Given the description of an element on the screen output the (x, y) to click on. 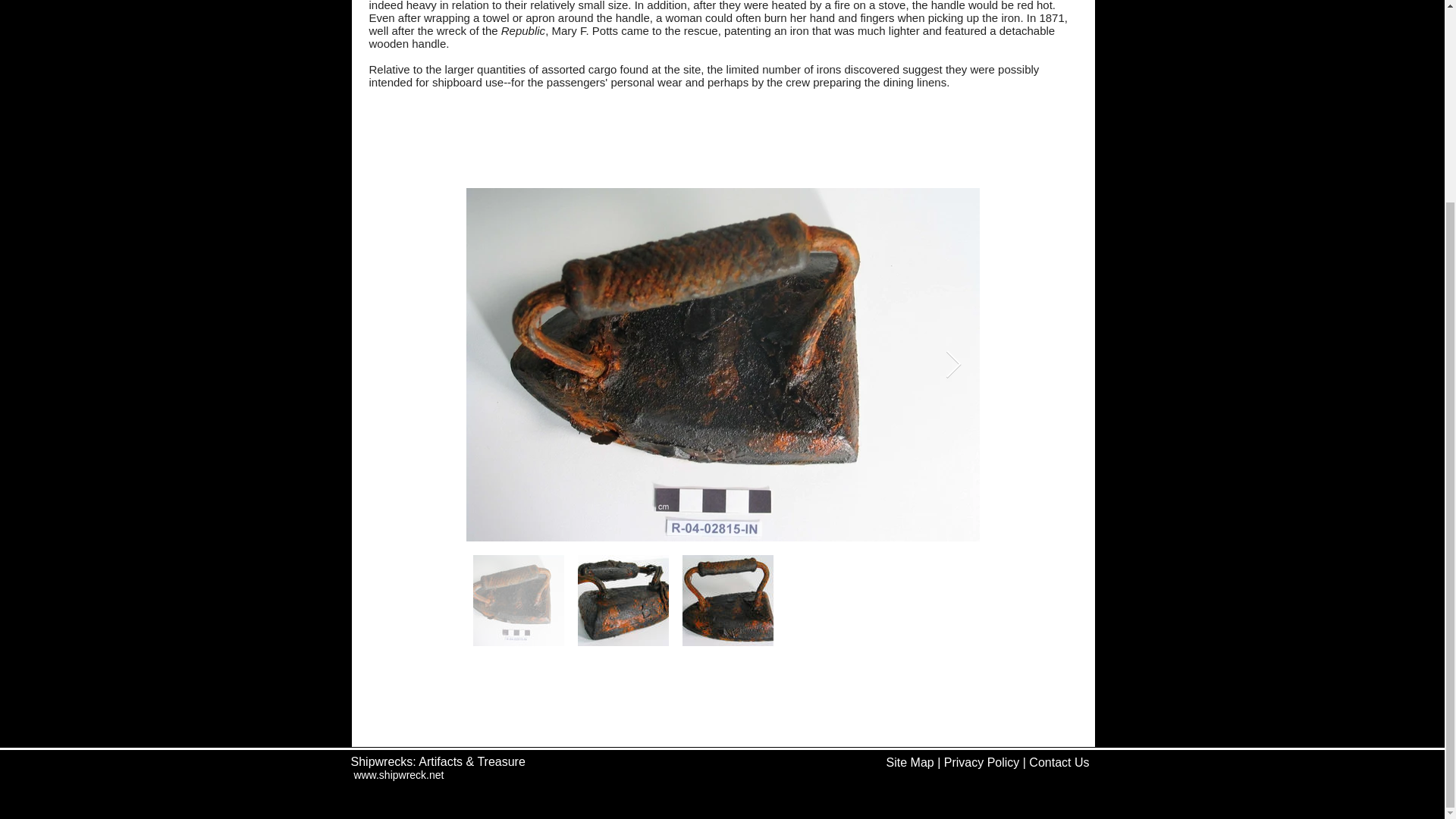
Contact Us (1059, 762)
Site Map (910, 762)
Privacy Policy (981, 762)
www.shipwreck.net (398, 775)
